Given the description of an element on the screen output the (x, y) to click on. 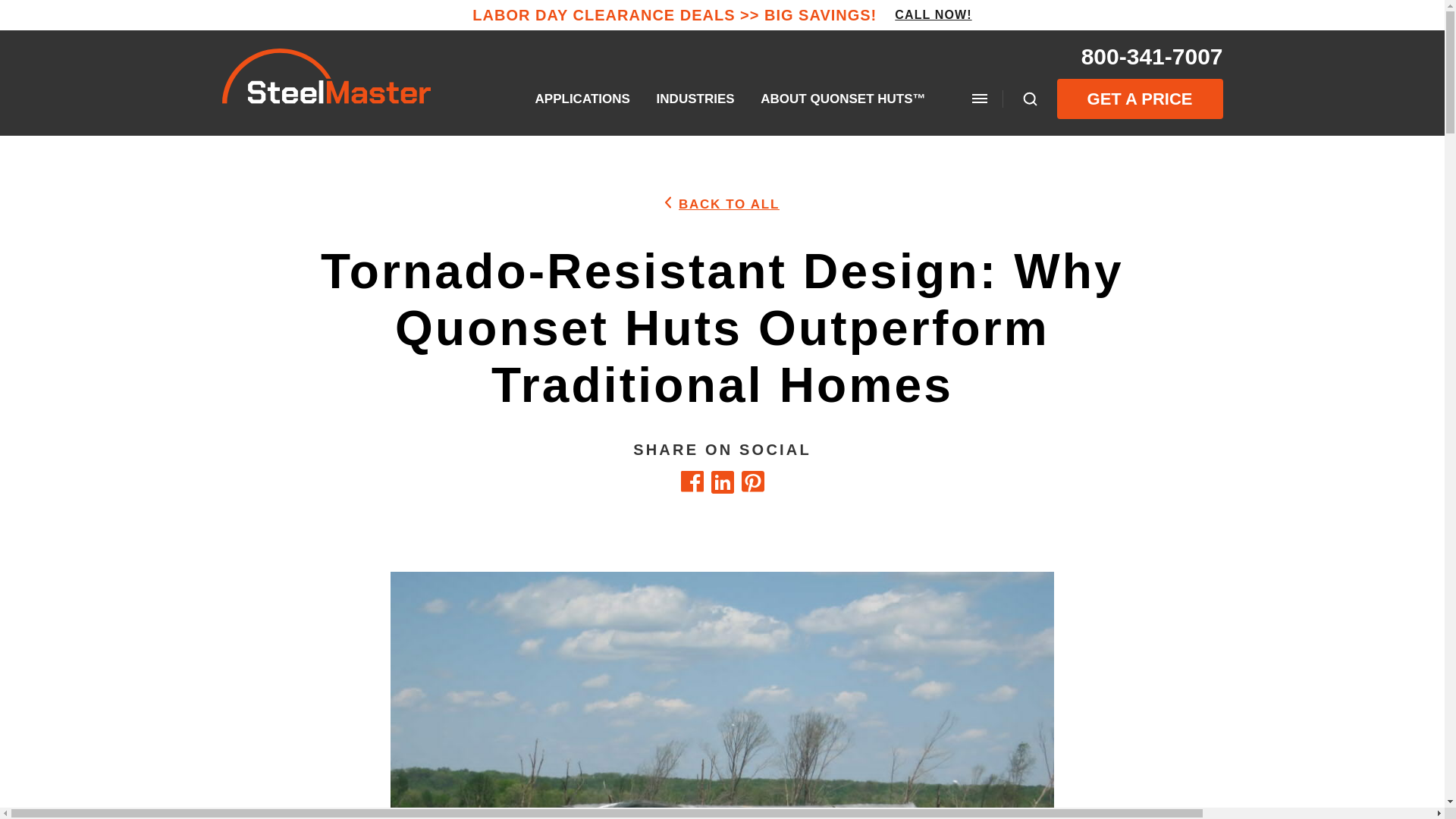
APPLICATIONS (582, 98)
CALL NOW! (933, 14)
GET A PRICE (1140, 98)
INDUSTRIES (695, 98)
